Given the description of an element on the screen output the (x, y) to click on. 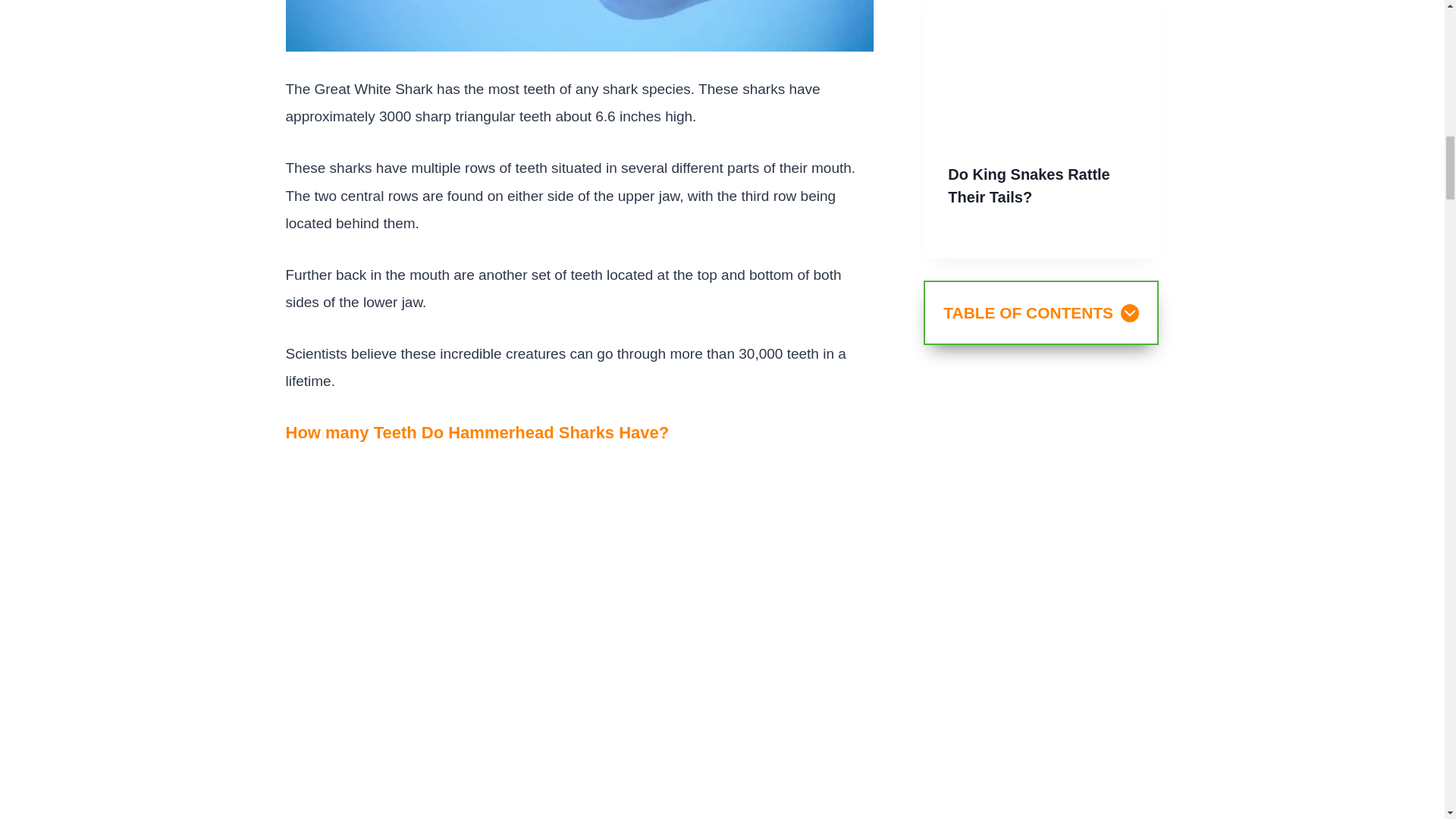
TABLE OF CONTENTS (1040, 312)
